Given the description of an element on the screen output the (x, y) to click on. 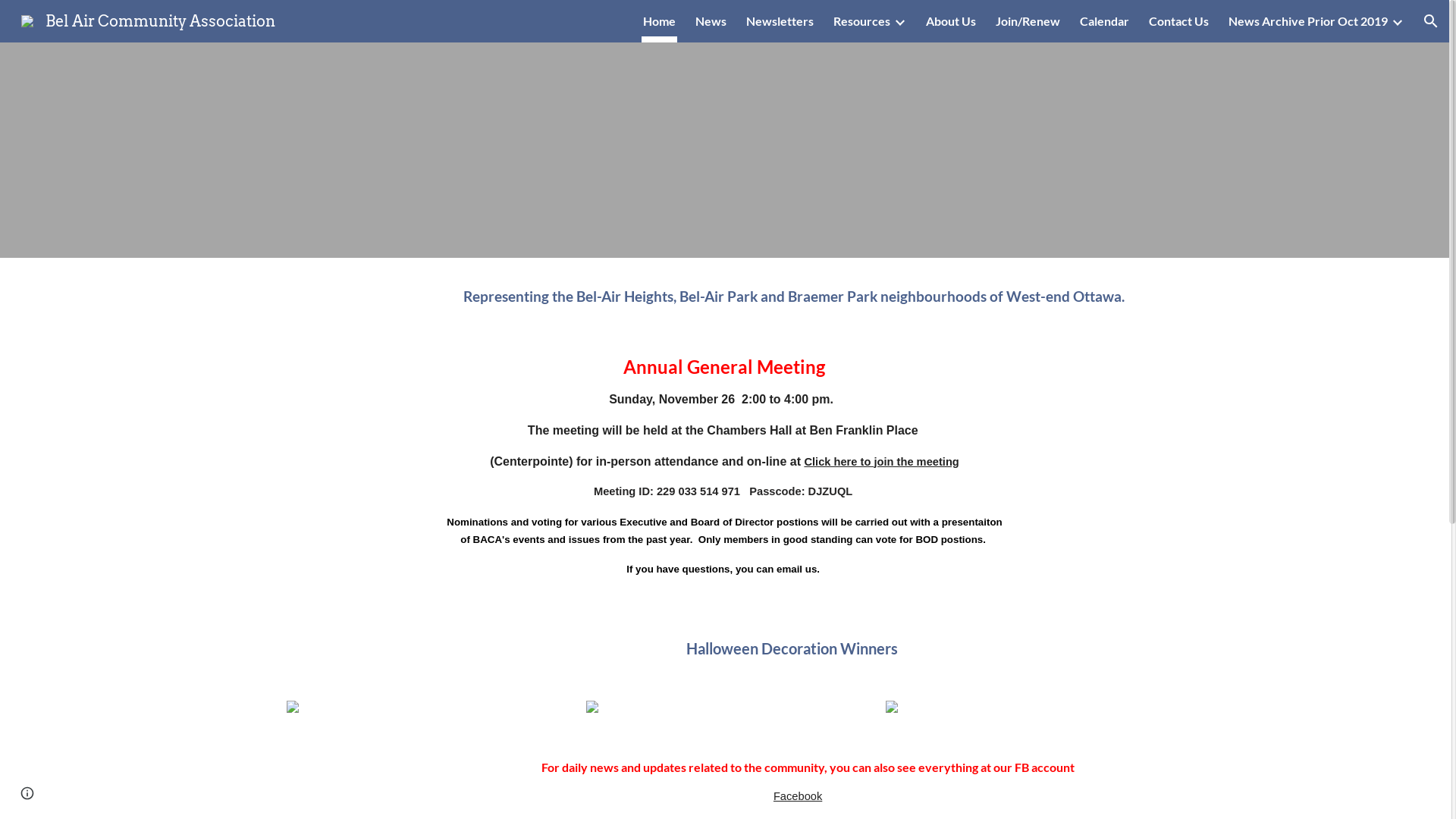
Newsletters Element type: text (779, 20)
News Archive Prior Oct 2019 Element type: text (1307, 20)
Facebook Element type: text (797, 796)
About Us Element type: text (950, 20)
Join/Renew Element type: text (1027, 20)
Bel Air Community Association Element type: text (148, 19)
News Element type: text (710, 20)
Calendar Element type: text (1104, 20)
Resources Element type: text (861, 20)
Expand/Collapse Element type: hover (1396, 20)
Contact Us Element type: text (1178, 20)
Expand/Collapse Element type: hover (899, 20)
Click here to join the meeting Element type: text (880, 461)
Home Element type: text (659, 20)
